Given the description of an element on the screen output the (x, y) to click on. 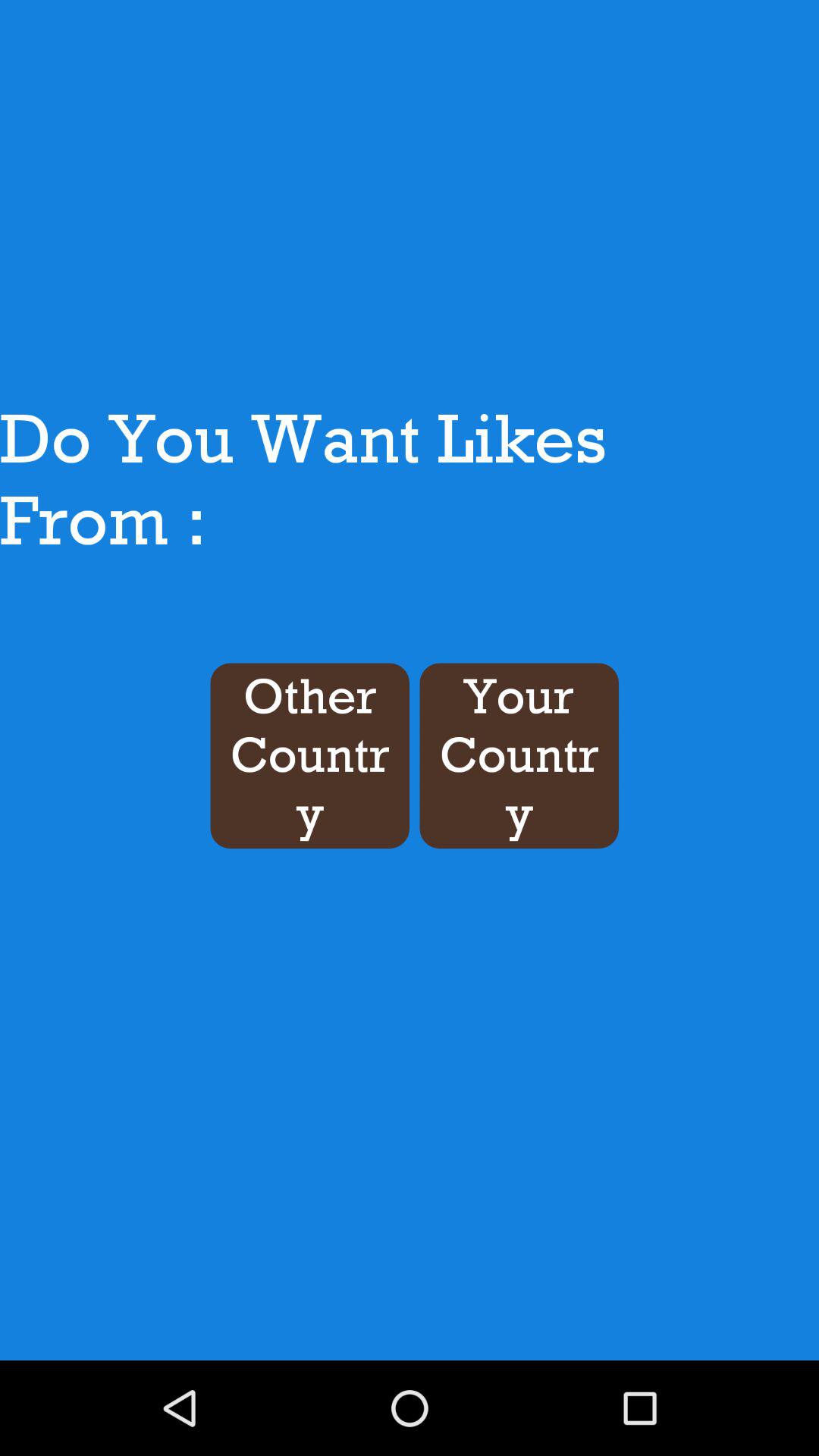
tap your country icon (518, 755)
